Given the description of an element on the screen output the (x, y) to click on. 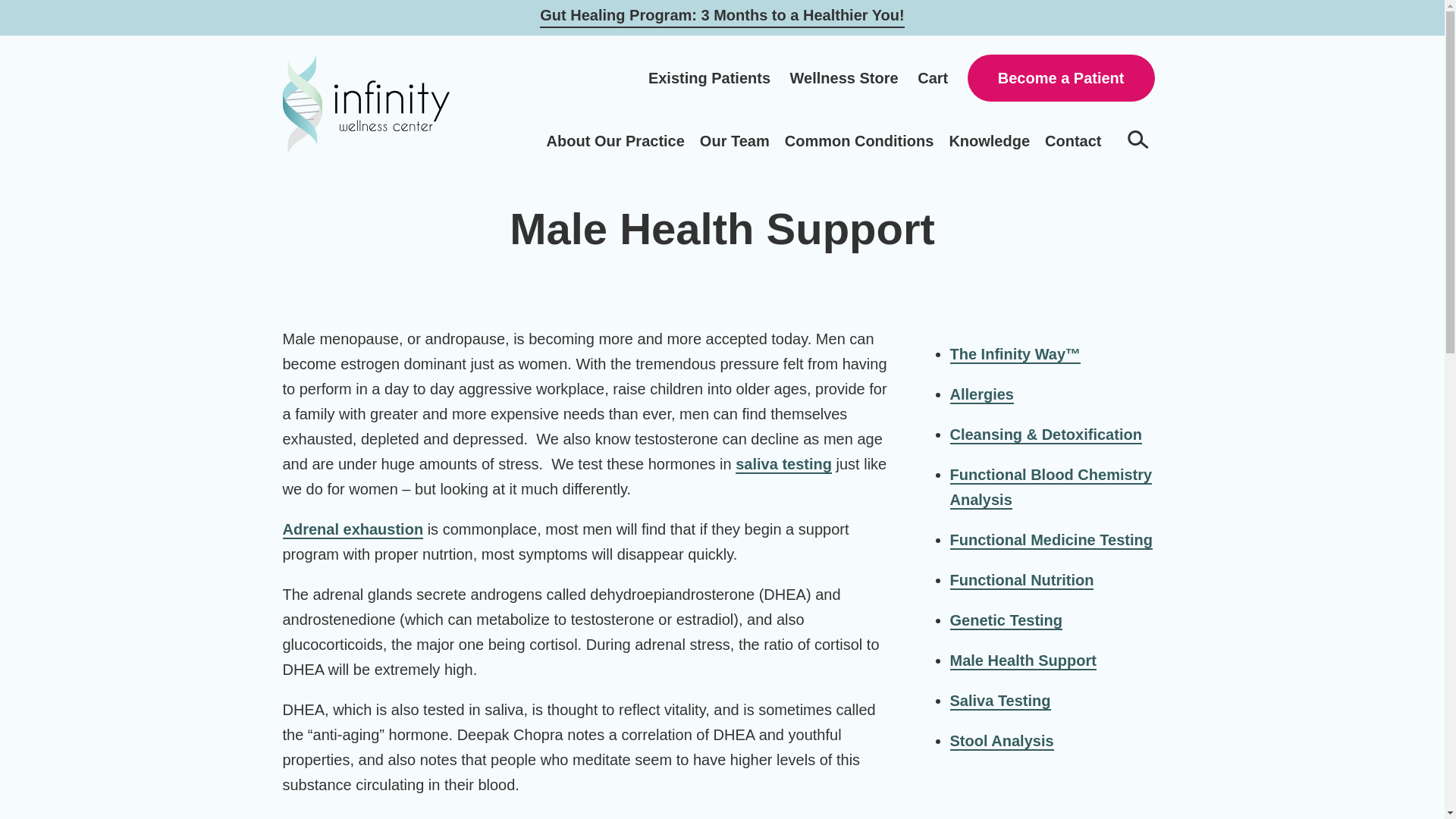
Existing Patients (708, 77)
saliva testing (783, 464)
Our Team (735, 140)
Become a Patient (1061, 77)
Knowledge (989, 140)
Functional Blood Chemistry Analysis (1050, 487)
Allergies (981, 394)
Cart (932, 77)
Adrenal exhaustion (352, 529)
Return to the Infinity Wellness Telehealth homepage (365, 103)
